Given the description of an element on the screen output the (x, y) to click on. 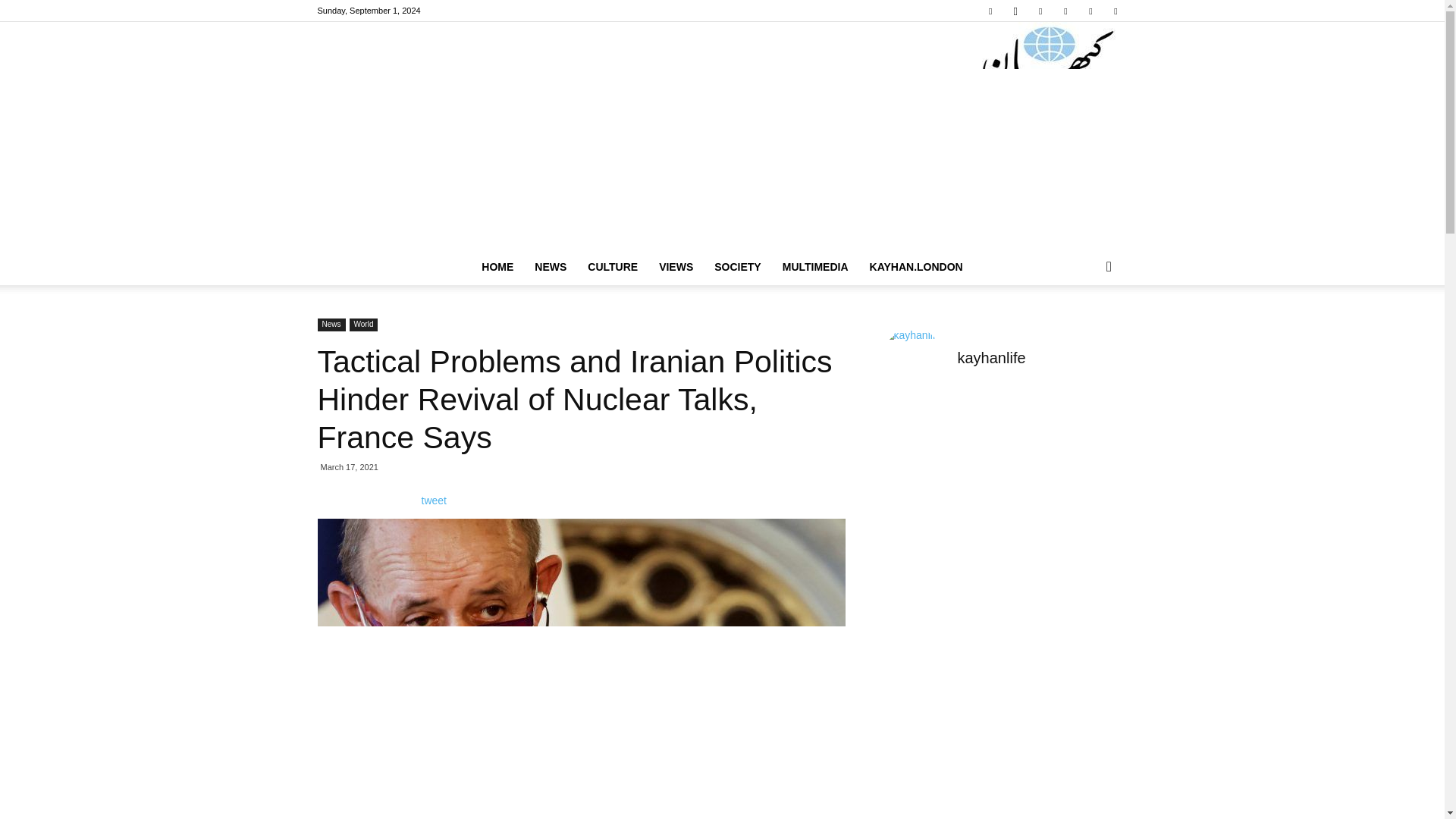
Youtube (1114, 10)
Linkedin (1040, 10)
Facebook (989, 10)
Twitter (1090, 10)
Instagram (1015, 10)
Pinterest (1065, 10)
